Given the description of an element on the screen output the (x, y) to click on. 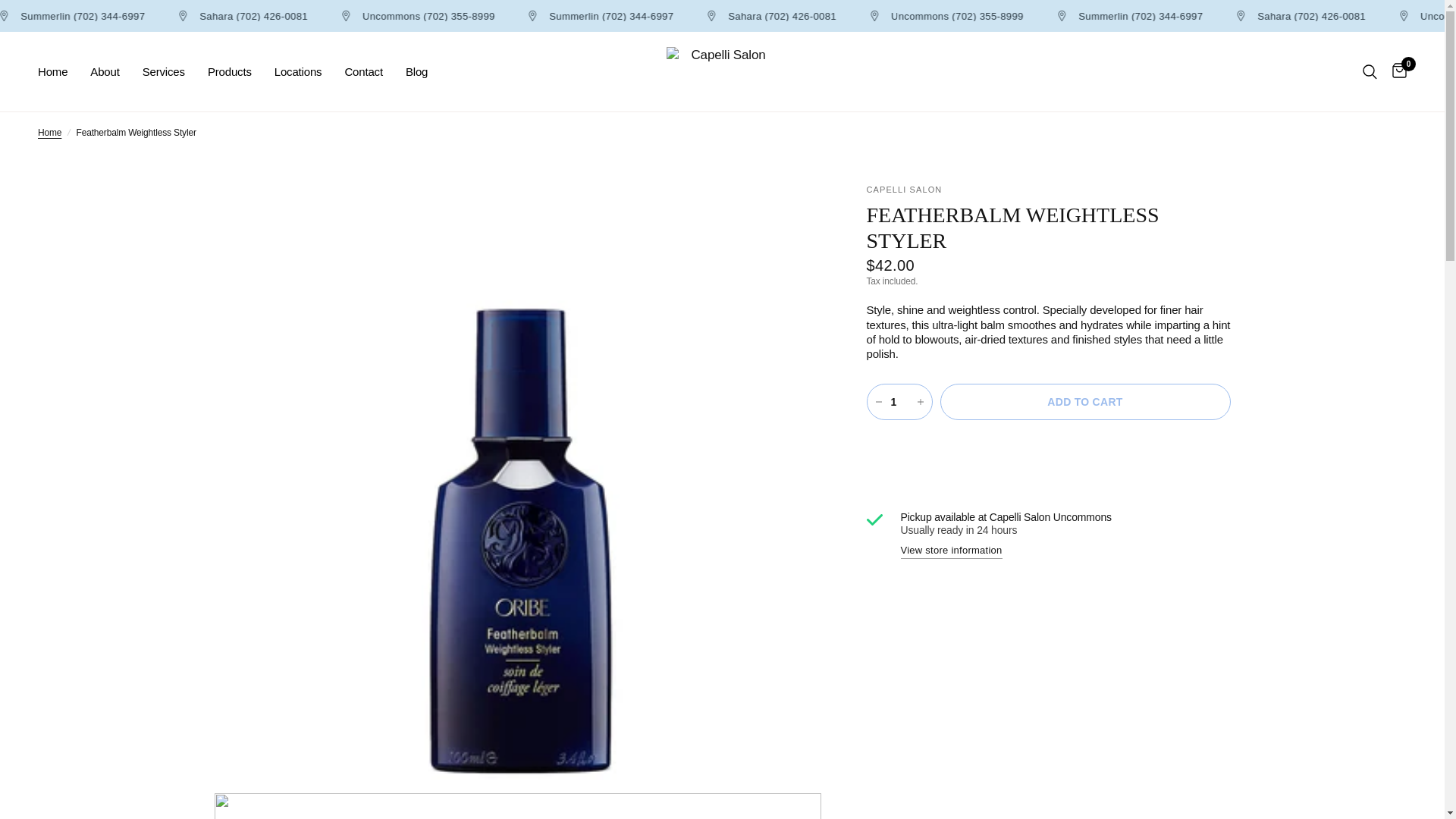
Blog (417, 71)
Home (49, 132)
Locations (298, 71)
Contact (362, 71)
Products (229, 71)
Home (49, 132)
About (104, 71)
Services (163, 71)
View store information (952, 549)
ADD TO CART (1085, 402)
